Given the description of an element on the screen output the (x, y) to click on. 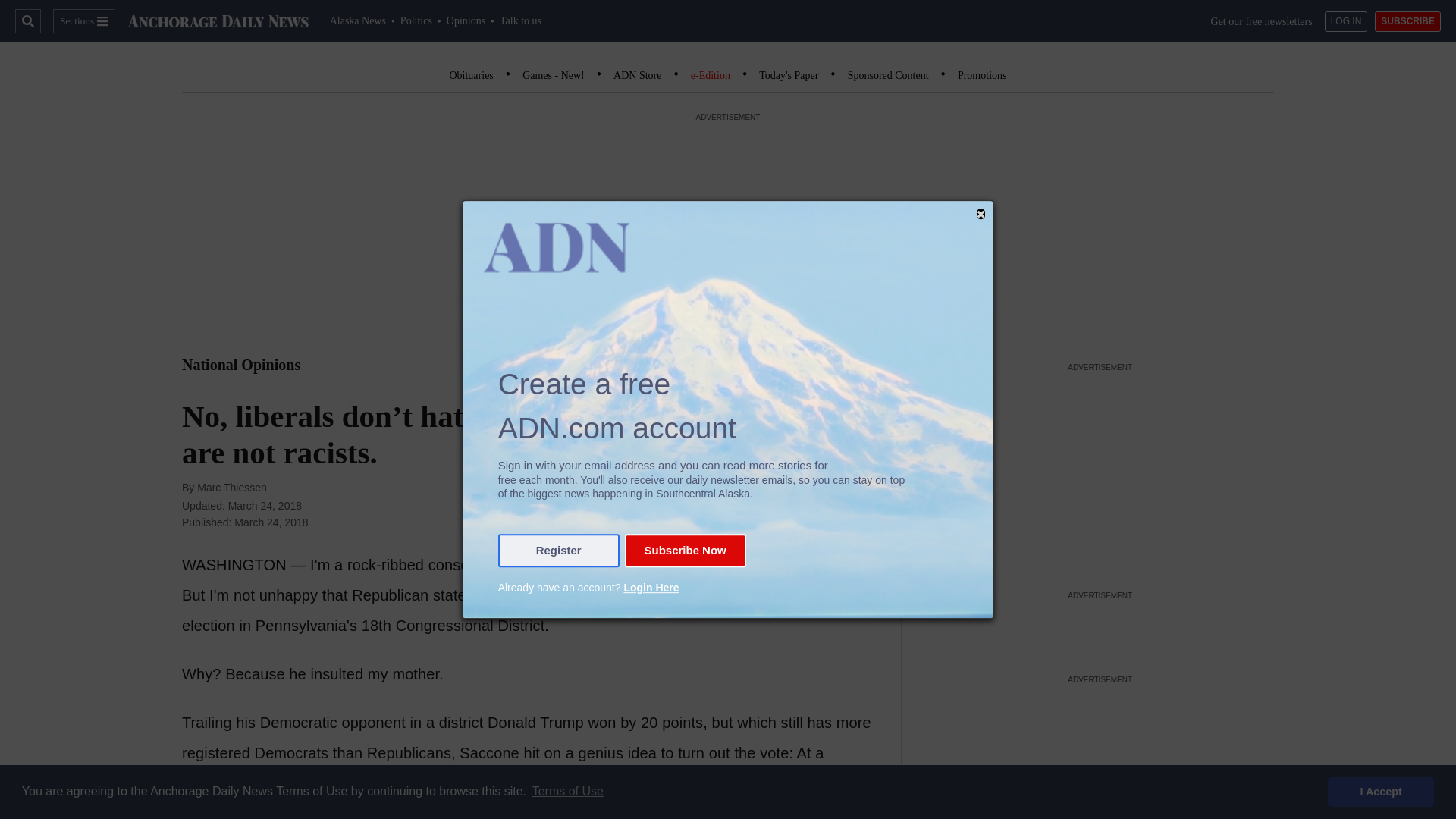
ADN Logo (218, 20)
Opinions (465, 20)
LOG IN (1346, 20)
3rd party ad content (1100, 627)
Subscribe Now (684, 549)
Sections (83, 21)
3rd party ad content (1100, 753)
Politics (416, 20)
SUBSCRIBE (1407, 20)
Get our free newsletters (1262, 21)
3rd party ad content (1100, 470)
Alaska News (357, 20)
I Accept (1380, 791)
Terms of Use (567, 791)
